Given the description of an element on the screen output the (x, y) to click on. 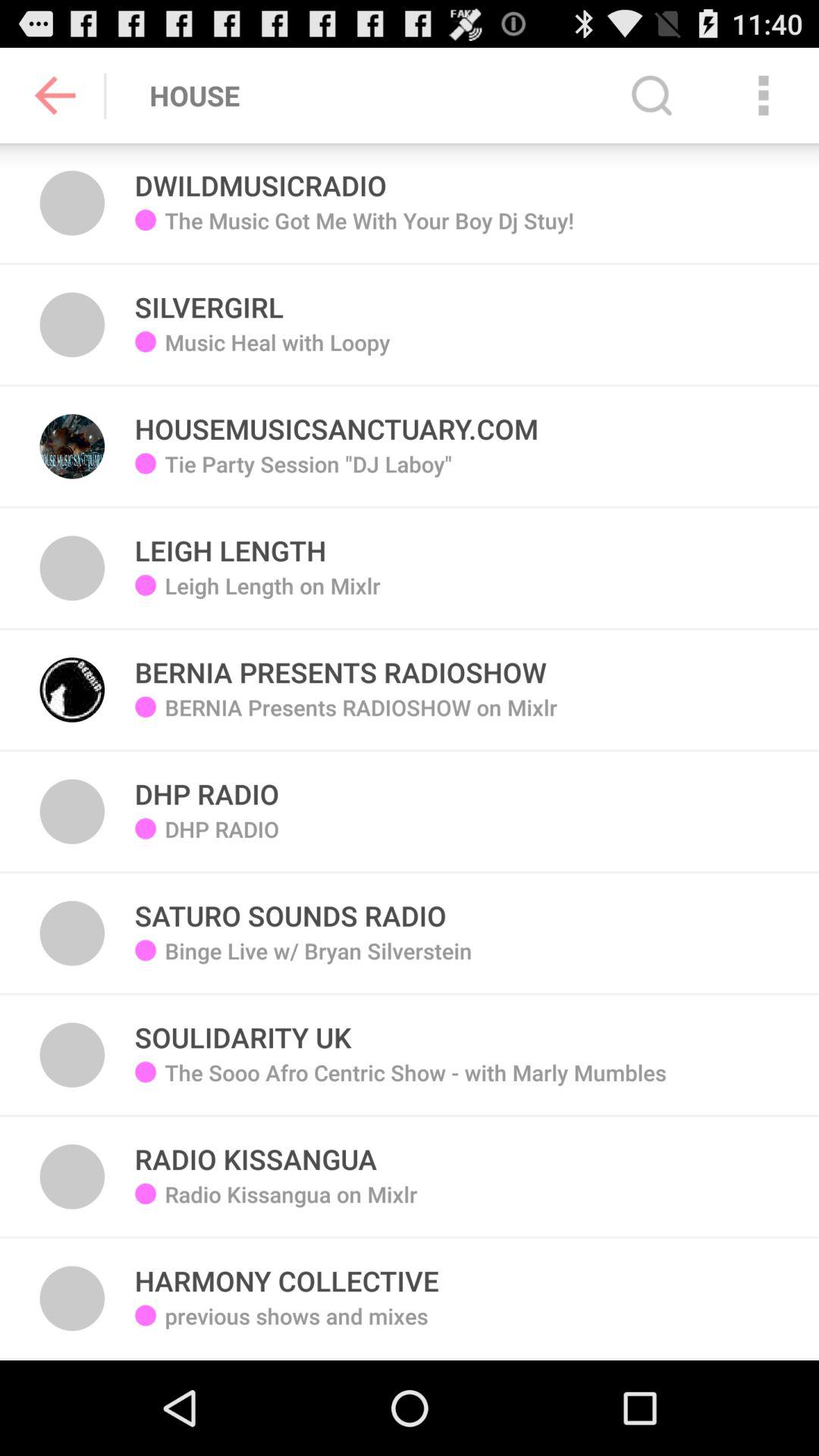
choose binge live w (318, 962)
